Given the description of an element on the screen output the (x, y) to click on. 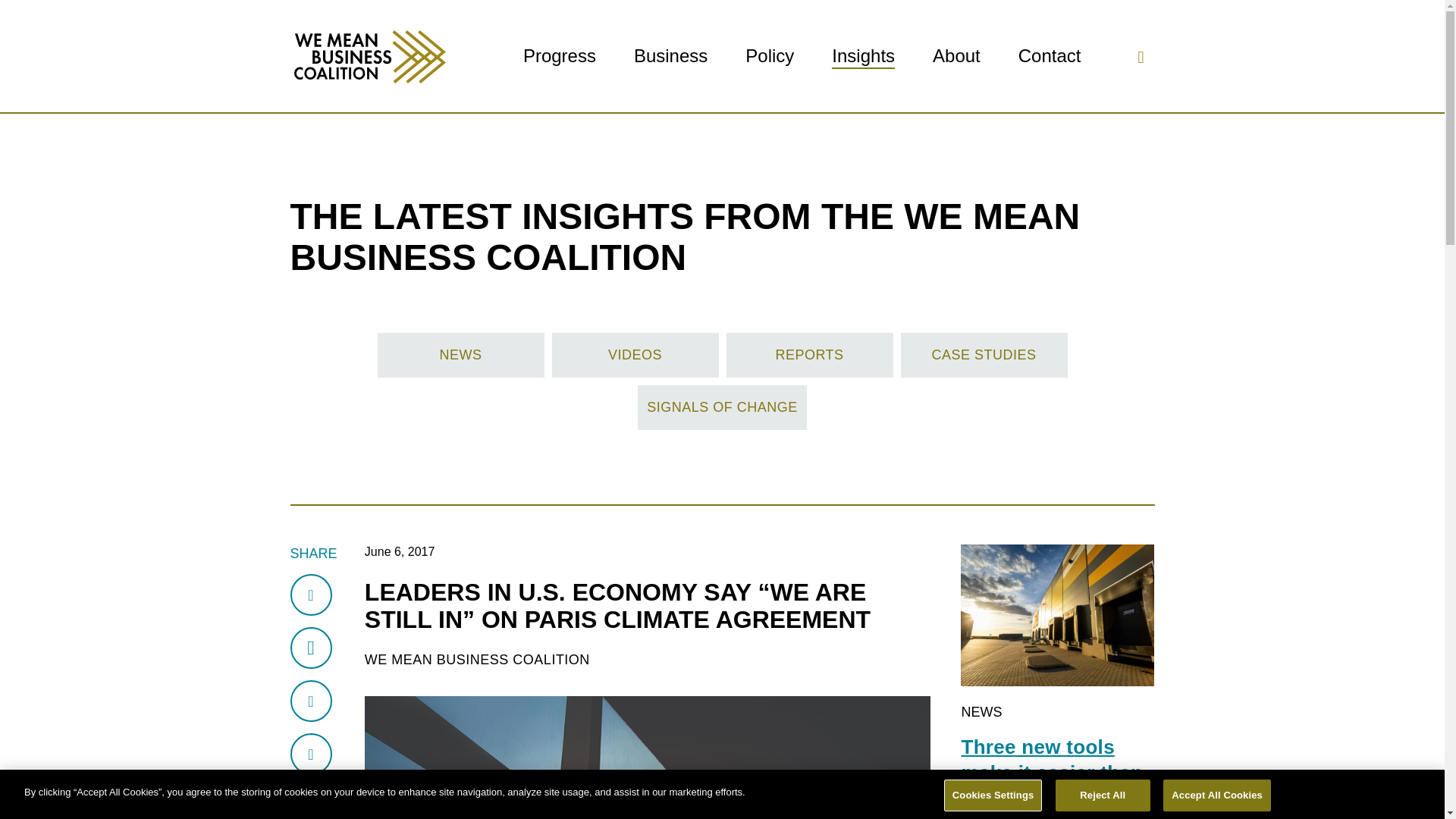
Contact (1049, 55)
About (956, 55)
Business (670, 55)
Insights (863, 55)
Progress (558, 55)
Policy (769, 55)
Contact (1049, 55)
Progress (558, 55)
SIGNALS OF CHANGE (721, 406)
REPORTS (809, 354)
VIDEOS (635, 354)
NEWS (460, 354)
Business (670, 55)
CASE STUDIES (984, 354)
